Given the description of an element on the screen output the (x, y) to click on. 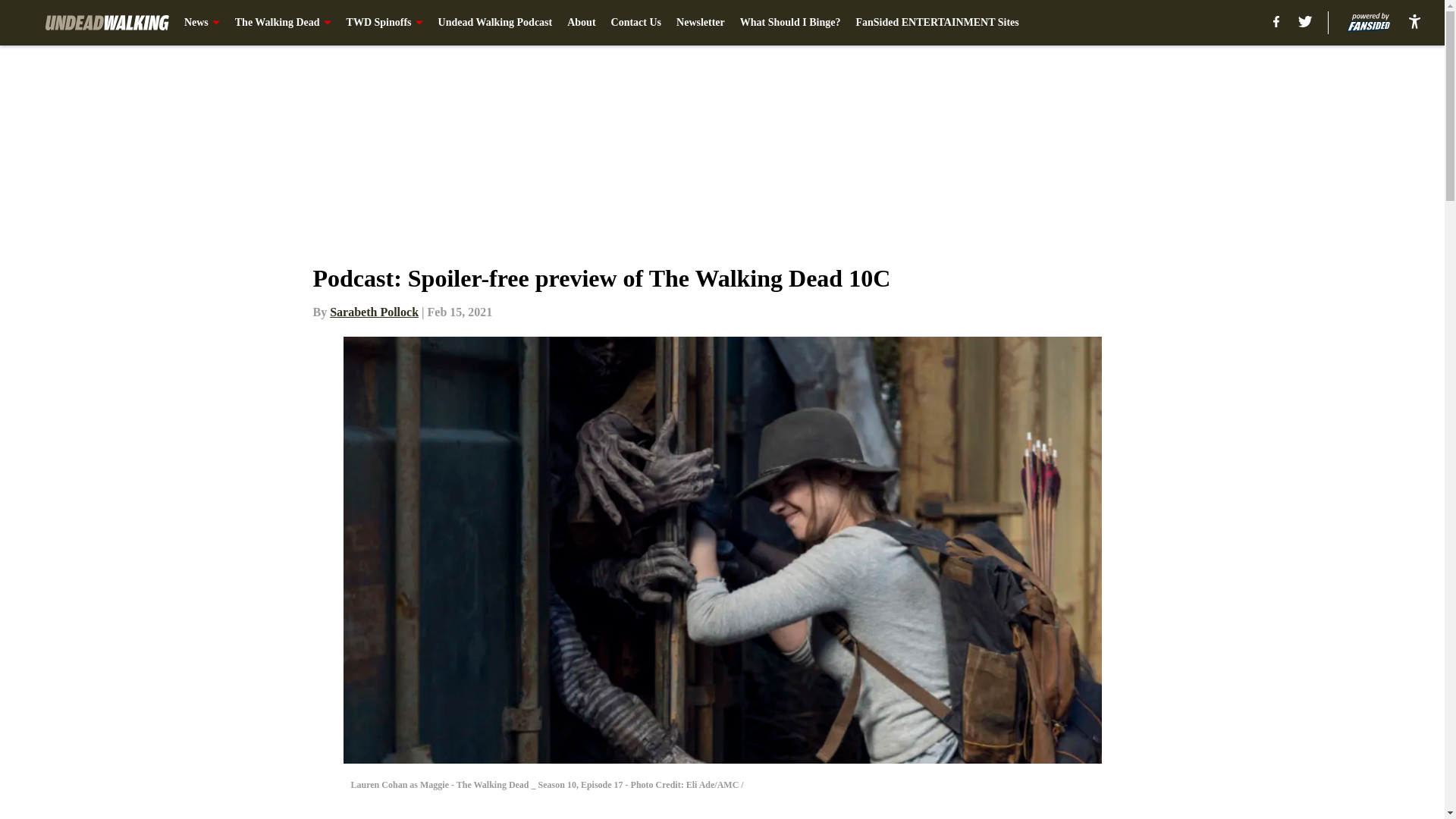
What Should I Binge? (790, 22)
Newsletter (701, 22)
FanSided ENTERTAINMENT Sites (936, 22)
About (581, 22)
Contact Us (636, 22)
Sarabeth Pollock (374, 311)
Undead Walking Podcast (495, 22)
